Given the description of an element on the screen output the (x, y) to click on. 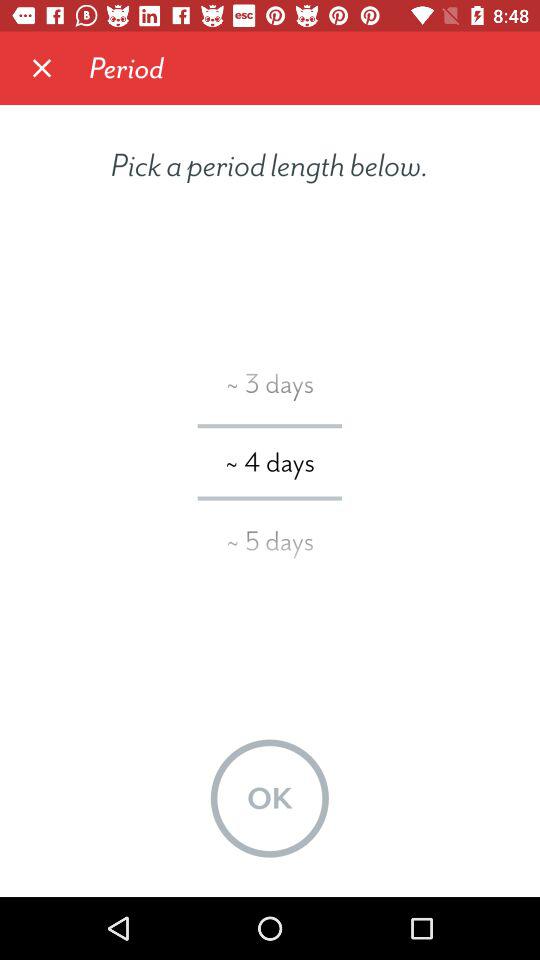
go to close option (42, 68)
